Given the description of an element on the screen output the (x, y) to click on. 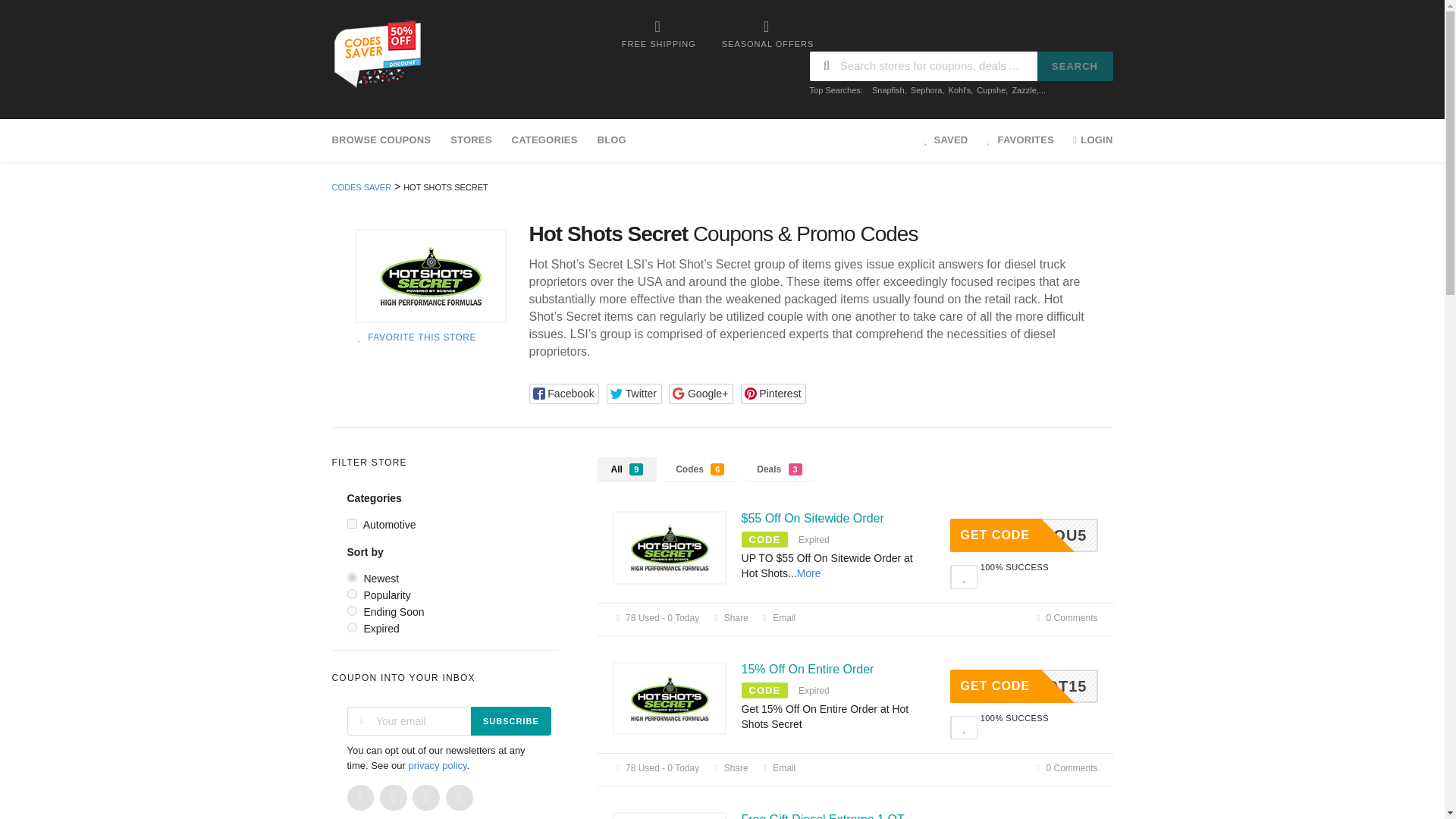
All 9 (627, 468)
More (808, 573)
expired (351, 627)
Sephora (926, 90)
FAVORITE THIS STORE (416, 337)
Coupon Comments (1064, 617)
Email (778, 617)
Zazzle (1023, 90)
Shop Hot Shots Secret (430, 275)
STORES (470, 140)
LOGIN (1087, 140)
SEASONAL OFFERS (767, 33)
SEARCH (1074, 66)
Codes Saver (376, 52)
SAVED (946, 140)
